Given the description of an element on the screen output the (x, y) to click on. 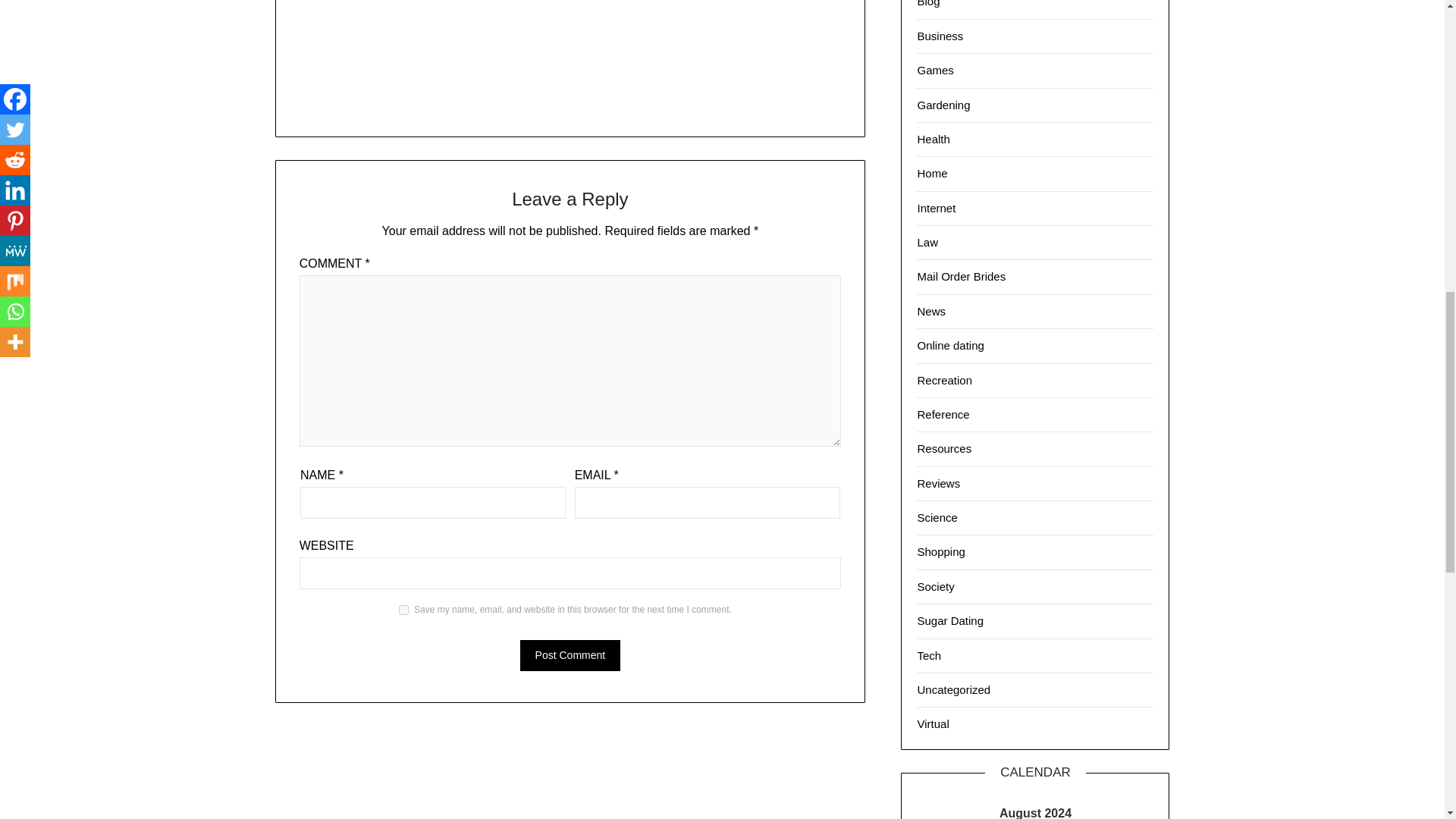
yes (403, 610)
Post Comment (570, 654)
Post Comment (570, 654)
